Given the description of an element on the screen output the (x, y) to click on. 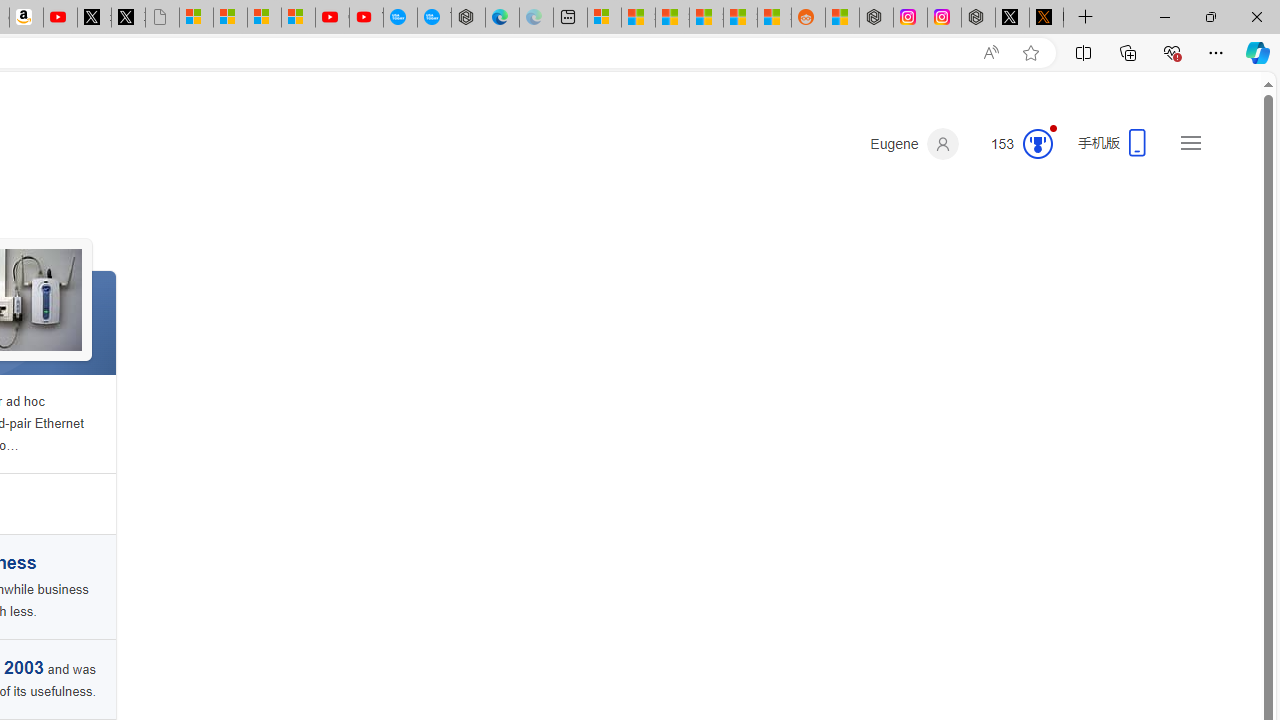
Settings and quick links (1190, 142)
The most popular Google 'how to' searches (434, 17)
Shanghai, China Weather trends | Microsoft Weather (774, 17)
Untitled (162, 17)
Gloom - YouTube (332, 17)
Microsoft account | Microsoft Account Privacy Settings (603, 17)
